Given the description of an element on the screen output the (x, y) to click on. 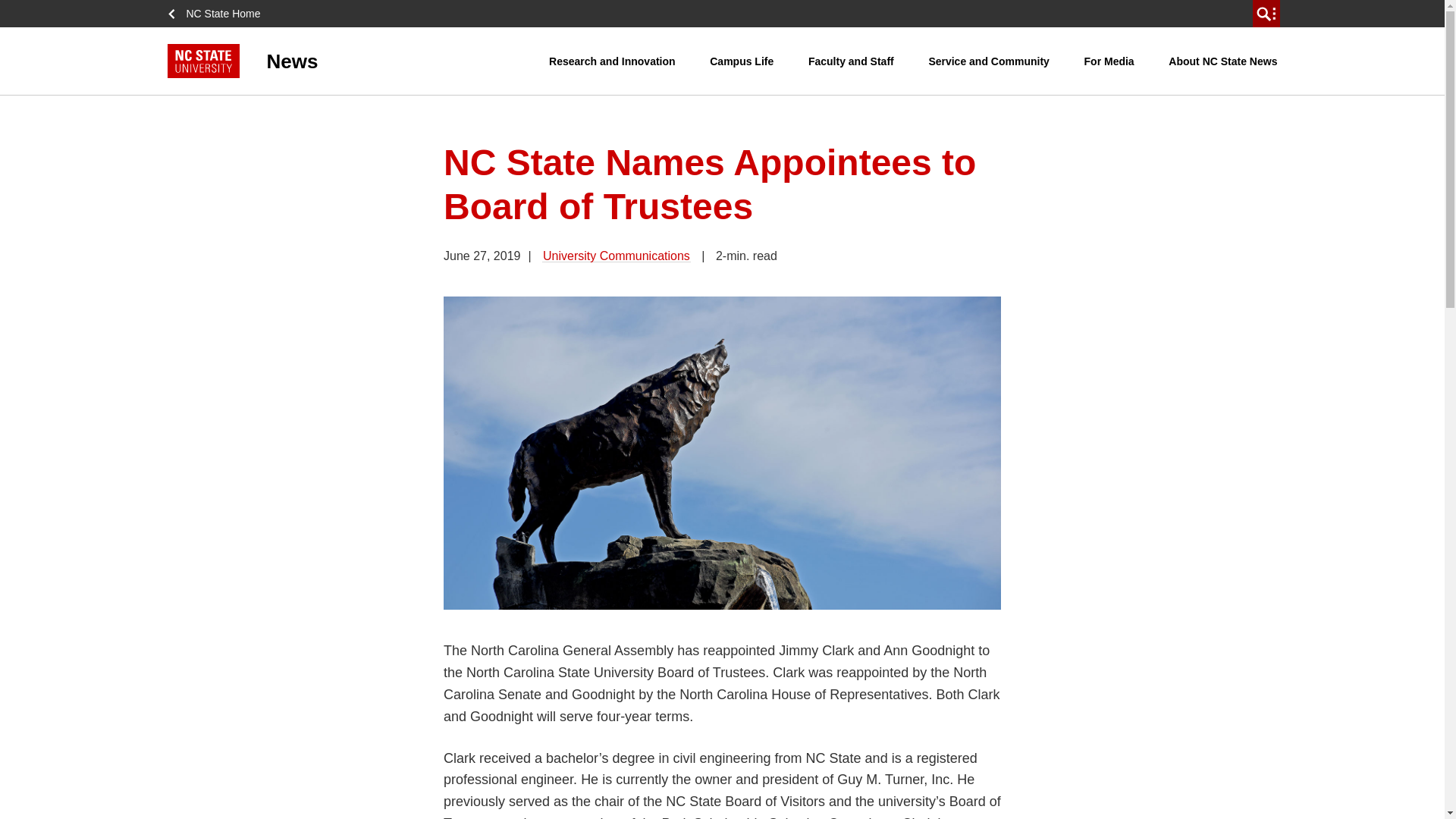
News (357, 61)
Service and Community (989, 61)
Faculty and Staff (851, 61)
Campus Life (741, 61)
Posts by University Communications (615, 255)
Research and Innovation (611, 61)
NC State Home (217, 13)
